Given the description of an element on the screen output the (x, y) to click on. 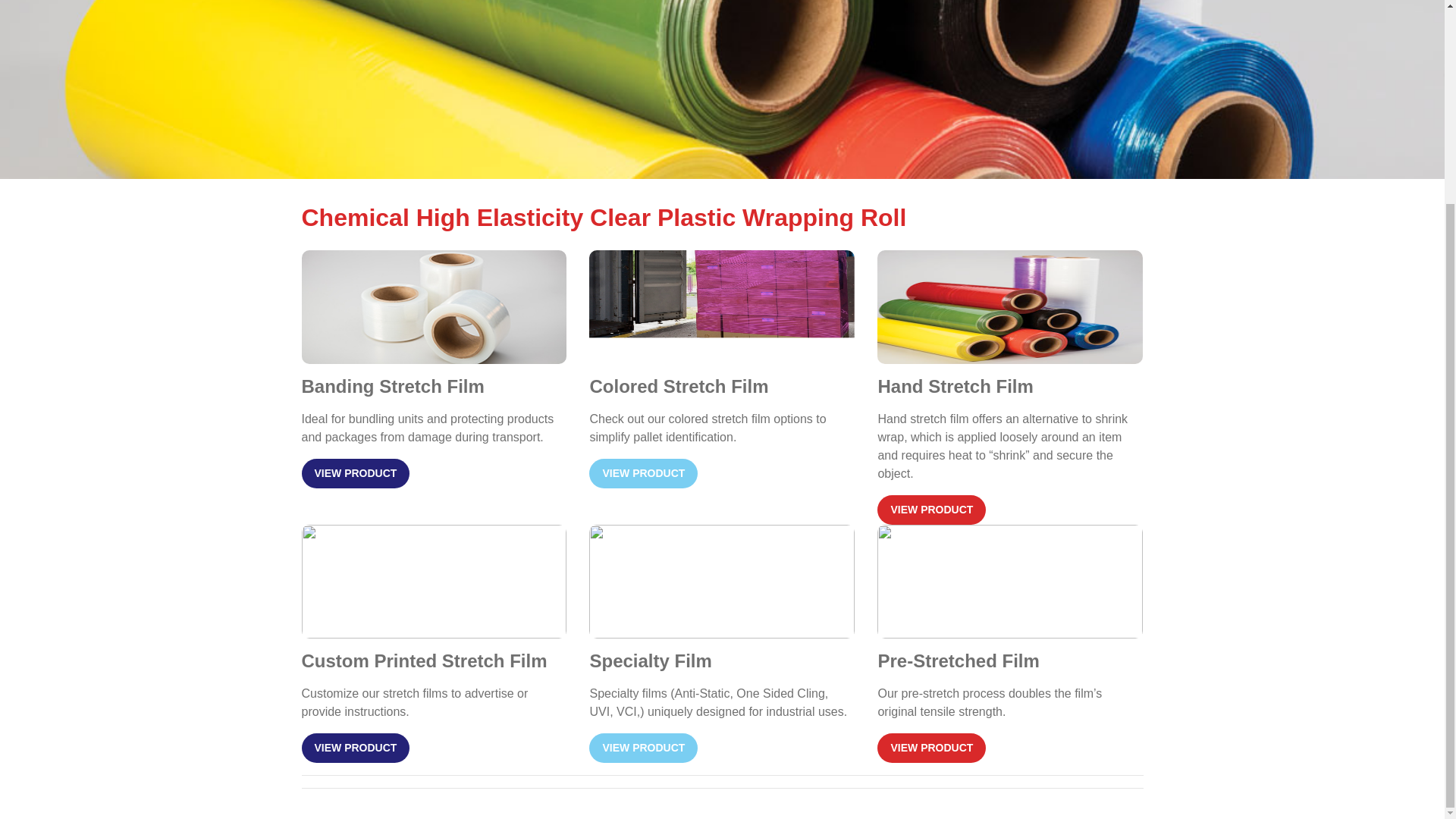
VIEW PRODUCT (931, 747)
VIEW PRODUCT (643, 747)
VIEW PRODUCT (355, 747)
VIEW PRODUCT (643, 473)
VIEW PRODUCT (355, 473)
VIEW PRODUCT (931, 509)
